Given the description of an element on the screen output the (x, y) to click on. 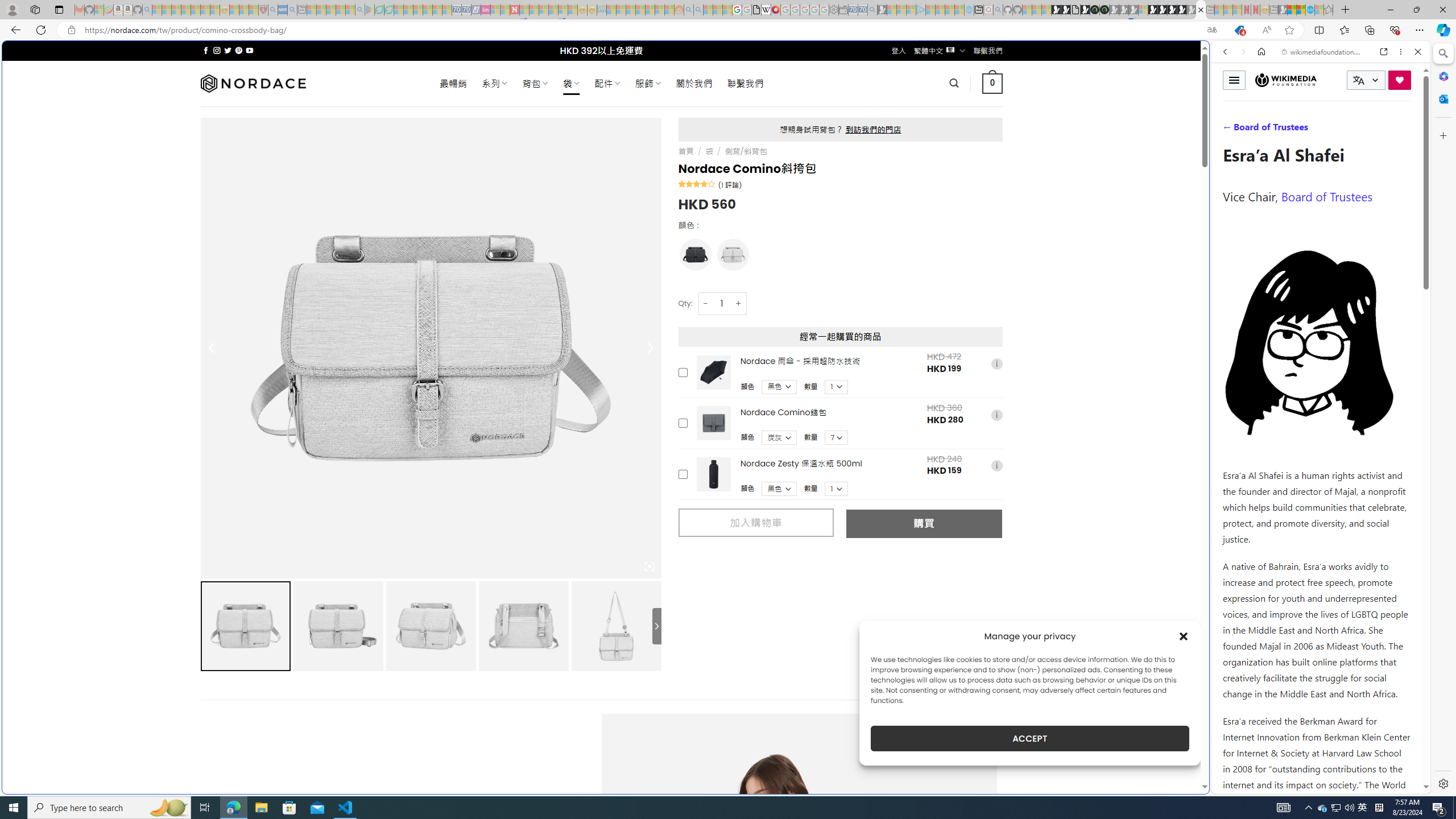
- (705, 303)
Class: cmplz-close (1183, 636)
Expert Portfolios - Sleeping (639, 9)
WEB   (1230, 130)
wikimediafoundation.org (1323, 51)
